Given the description of an element on the screen output the (x, y) to click on. 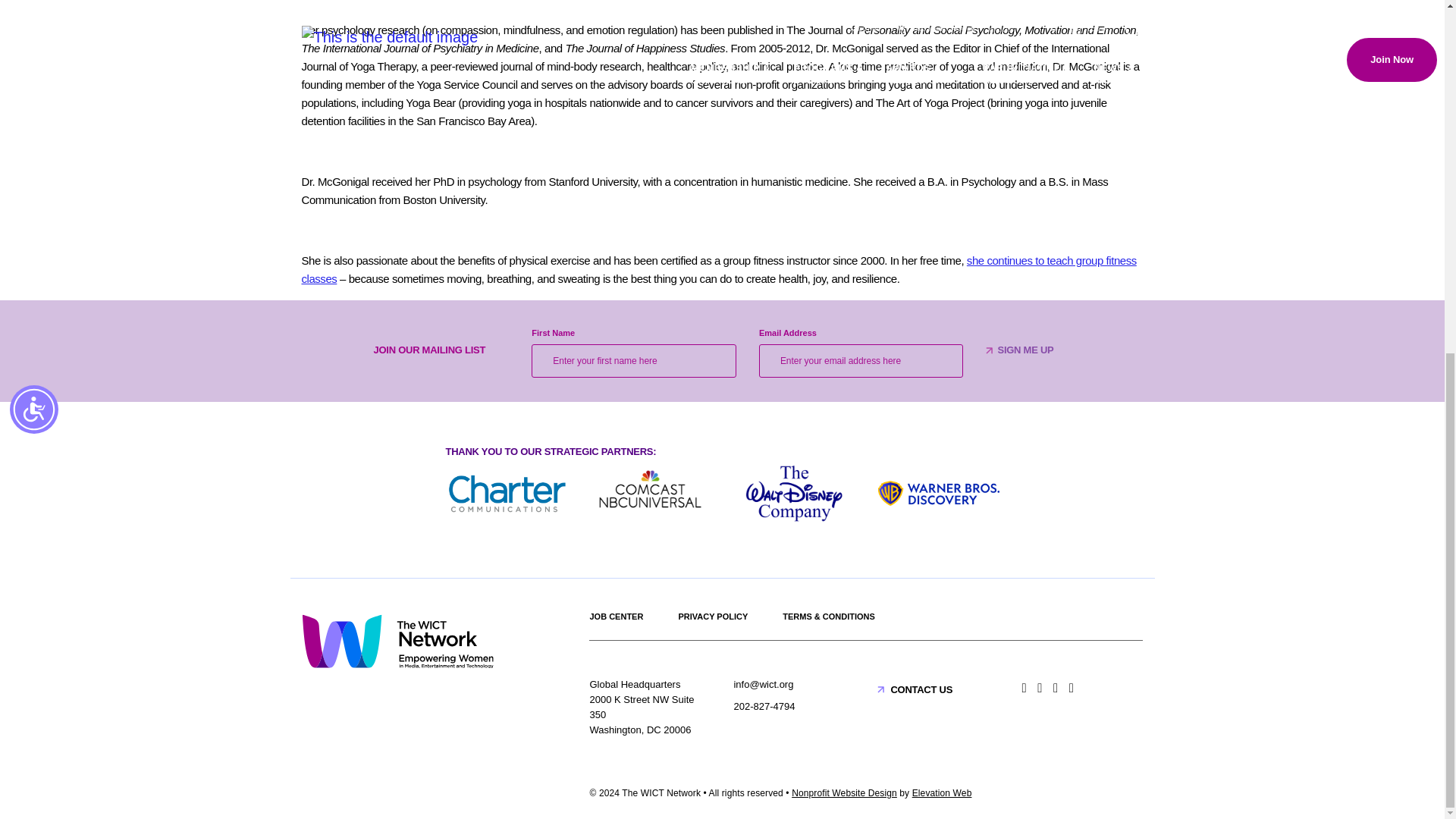
Sign Me up (1024, 350)
